Given the description of an element on the screen output the (x, y) to click on. 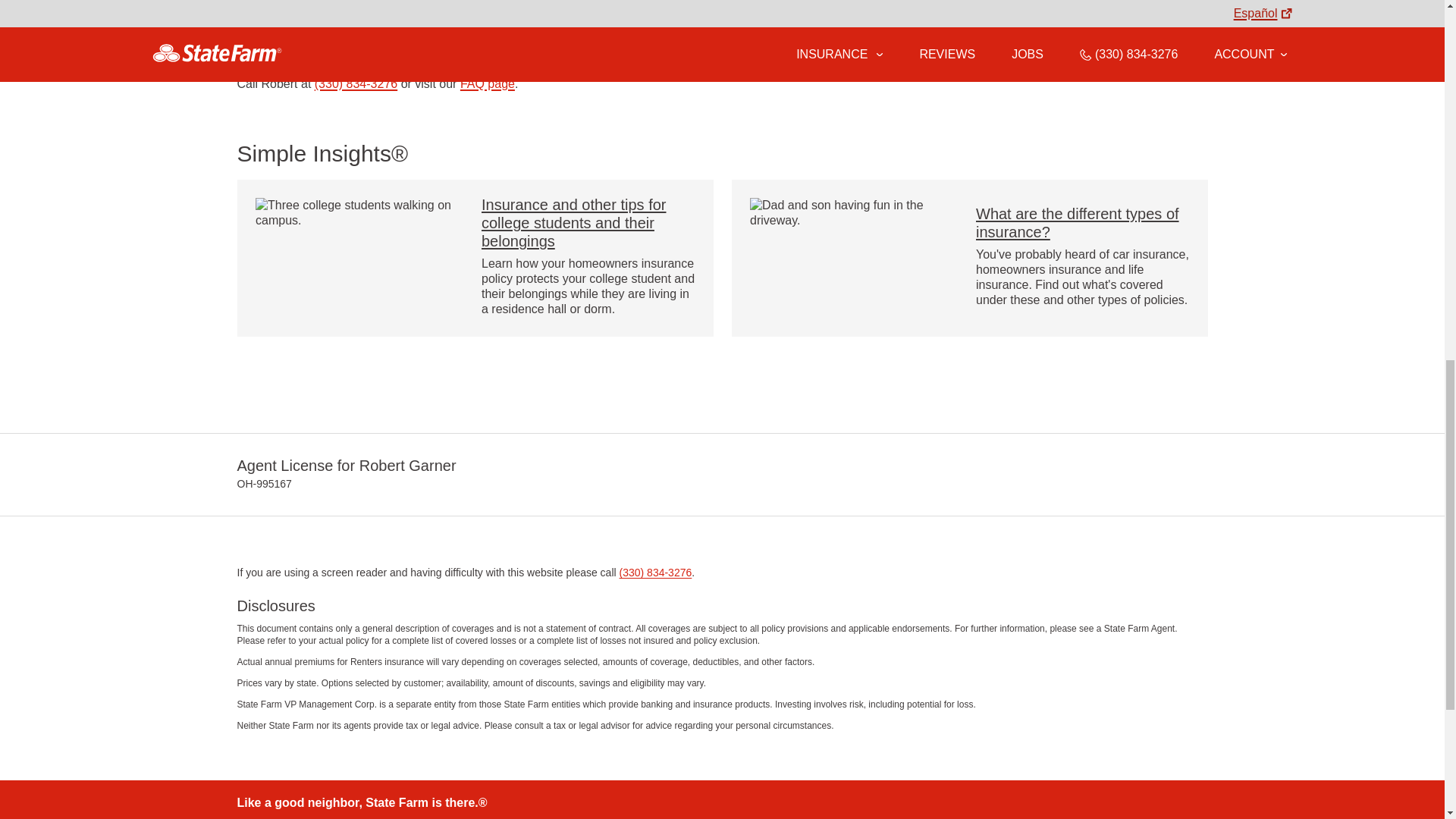
FAQ page (487, 83)
